Given the description of an element on the screen output the (x, y) to click on. 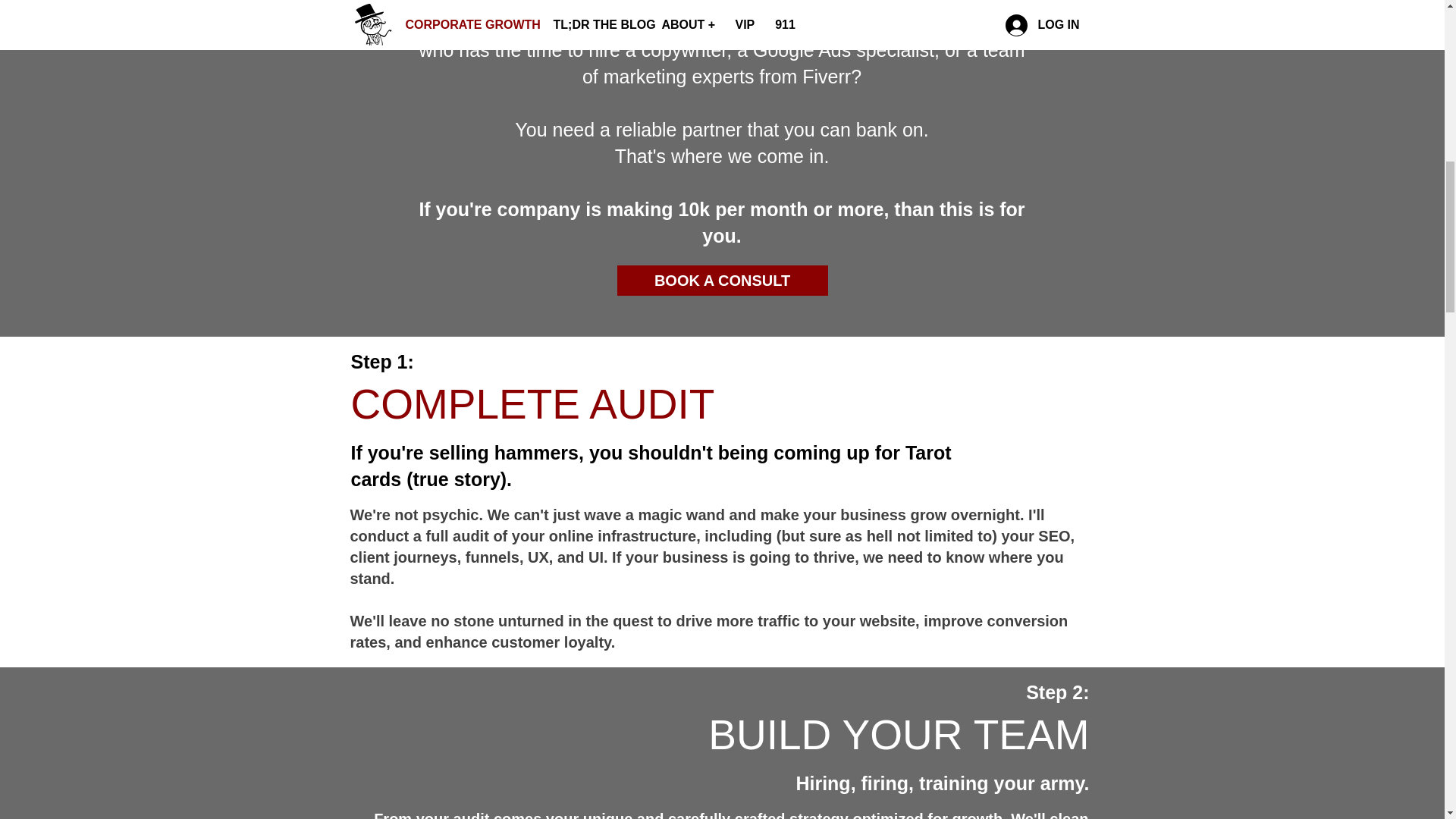
BOOK A CONSULT (722, 280)
